Given the description of an element on the screen output the (x, y) to click on. 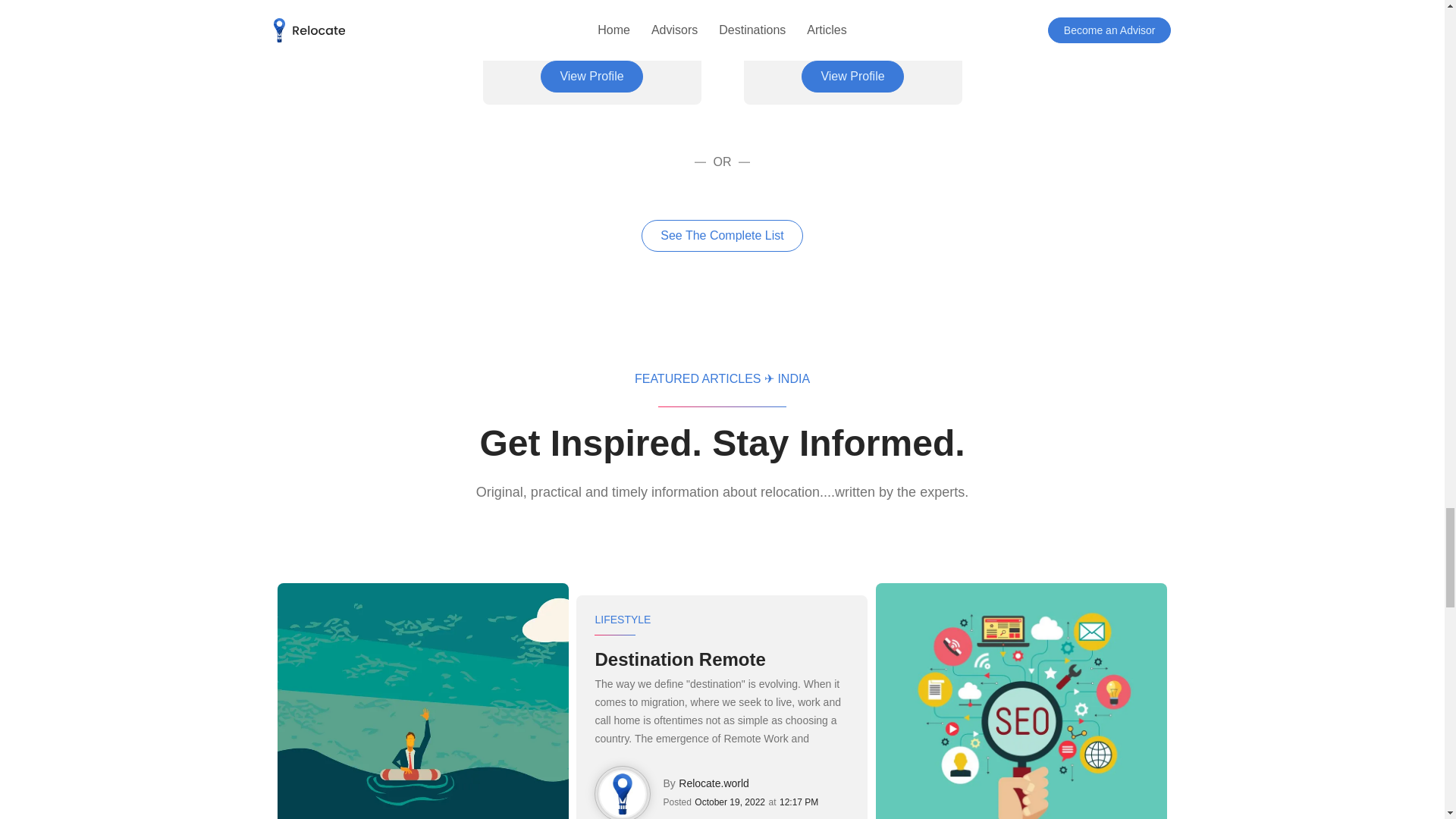
View Profile (591, 76)
View Profile (852, 76)
Destination Remote (721, 659)
See The Complete List (722, 235)
